Given the description of an element on the screen output the (x, y) to click on. 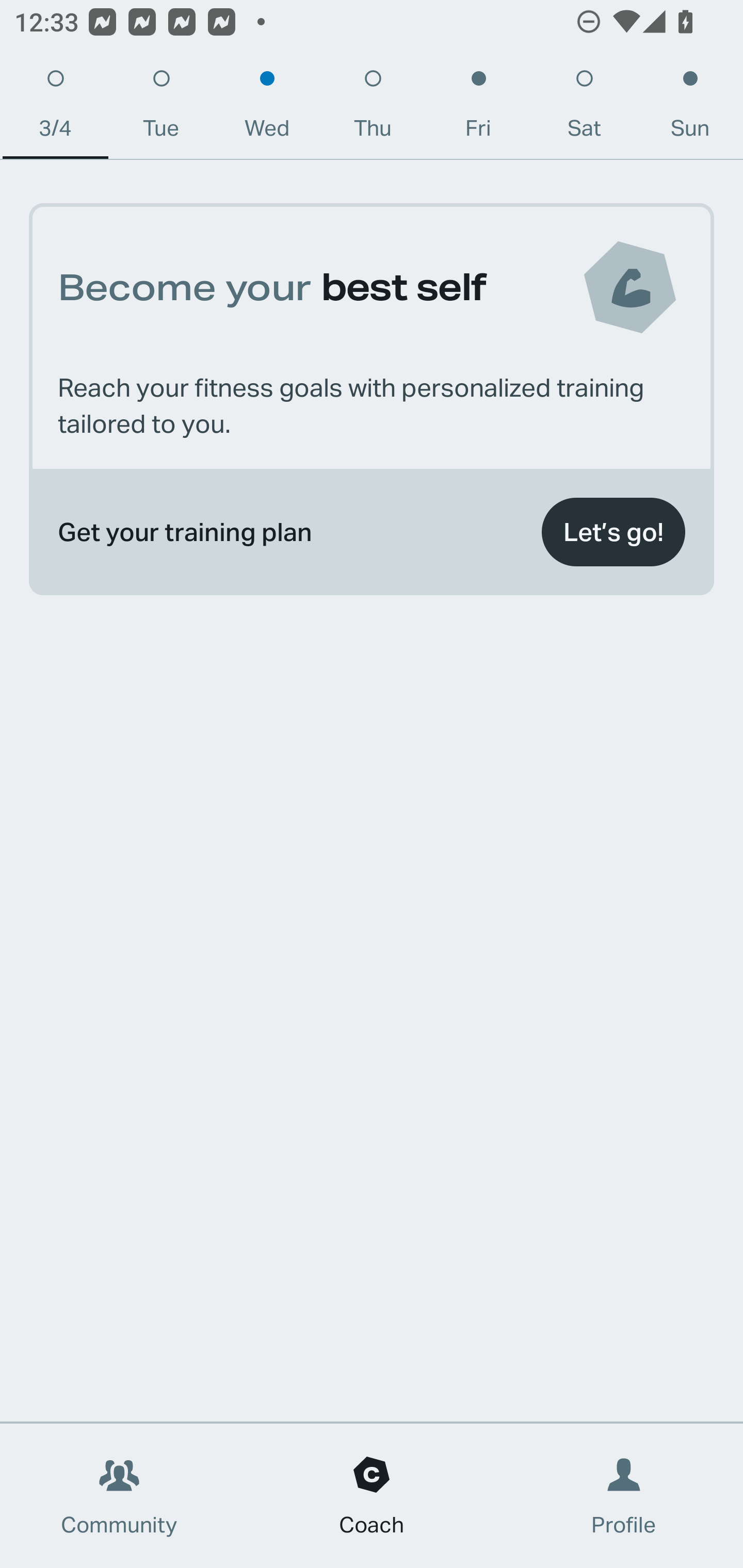
3/4 (55, 108)
Tue (160, 108)
Wed (266, 108)
Thu (372, 108)
Fri (478, 108)
Sat (584, 108)
Sun (690, 108)
Let’s go! (613, 532)
Community (119, 1495)
Profile (624, 1495)
